Given the description of an element on the screen output the (x, y) to click on. 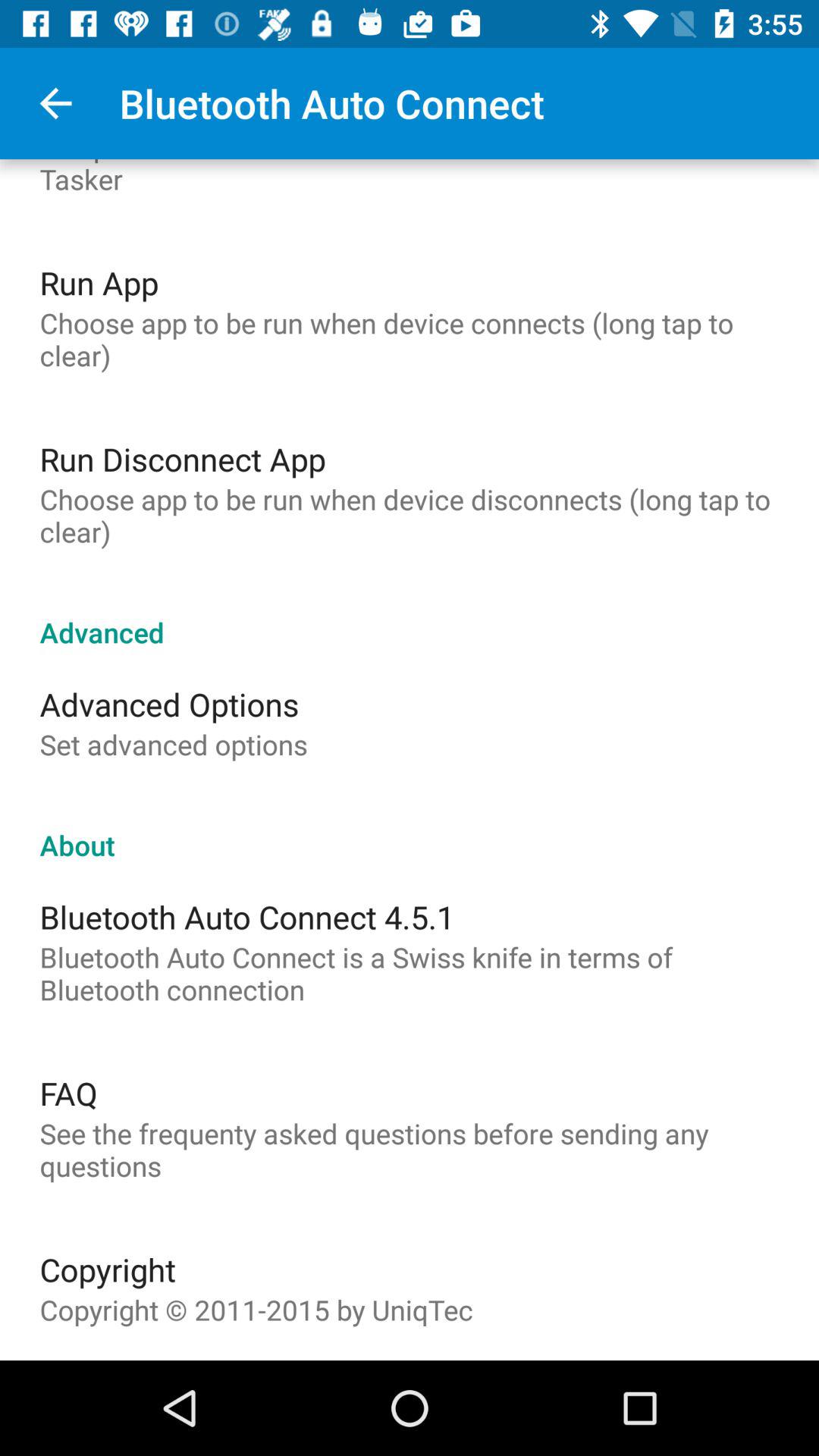
choose item below the faq item (409, 1149)
